Given the description of an element on the screen output the (x, y) to click on. 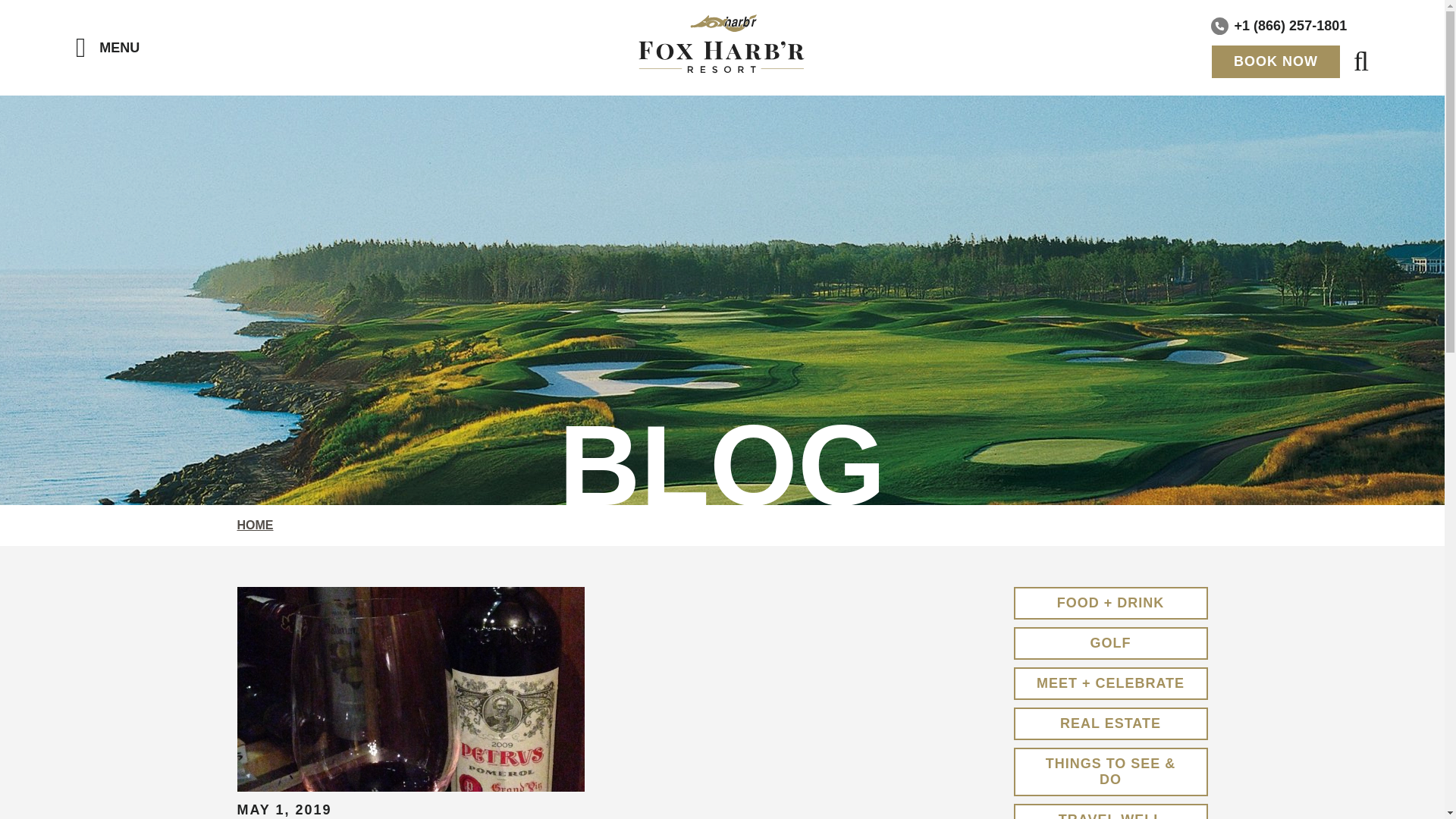
TRAVEL WELL (1110, 811)
BOOK NOW (1275, 61)
REAL ESTATE (1110, 723)
HOME (254, 524)
MENU (107, 47)
GOLF (1110, 643)
